Given the description of an element on the screen output the (x, y) to click on. 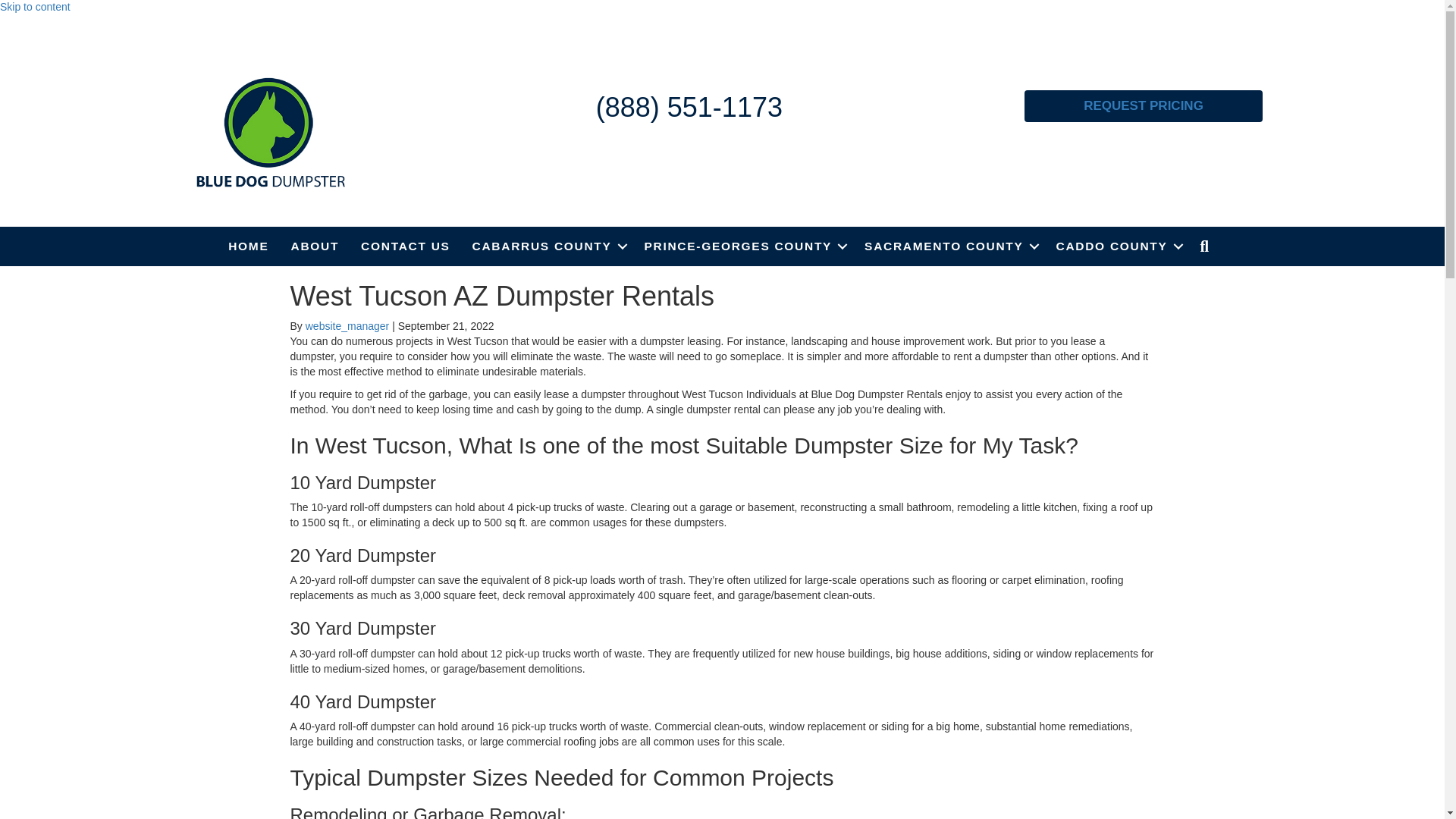
PRINCE-GEORGES COUNTY (743, 246)
bluedogdumpster (269, 131)
SACRAMENTO COUNTY (948, 246)
CABARRUS COUNTY (547, 246)
REQUEST PRICING (1144, 106)
CONTACT US (405, 246)
HOME (247, 246)
Skip to content (34, 6)
ABOUT (315, 246)
